Given the description of an element on the screen output the (x, y) to click on. 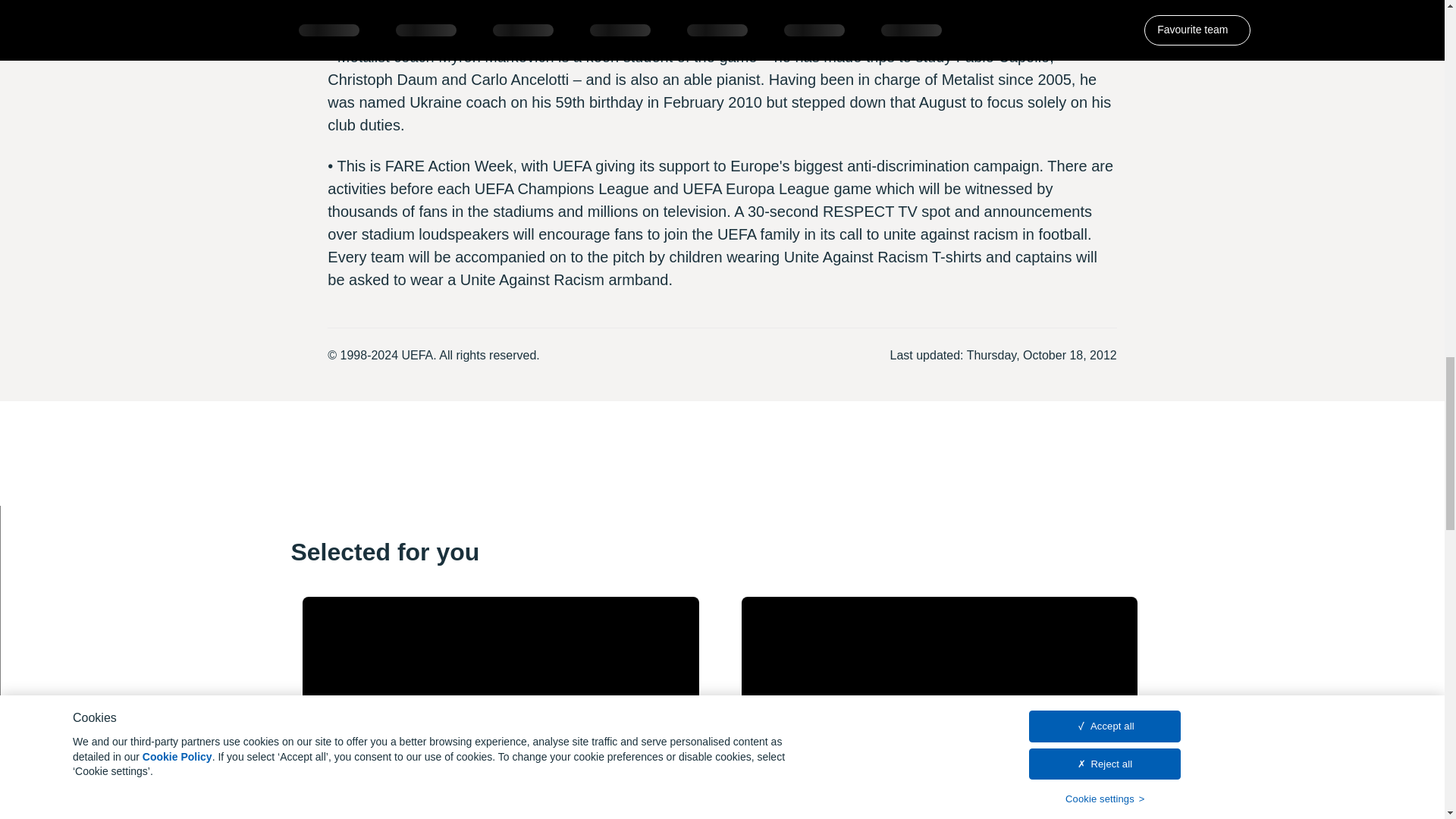
Club Brugge out to best Newcastle (939, 701)
Club Brugge out to best Newcastle (939, 701)
Club Brugge out to best Newcastle (939, 708)
